Given the description of an element on the screen output the (x, y) to click on. 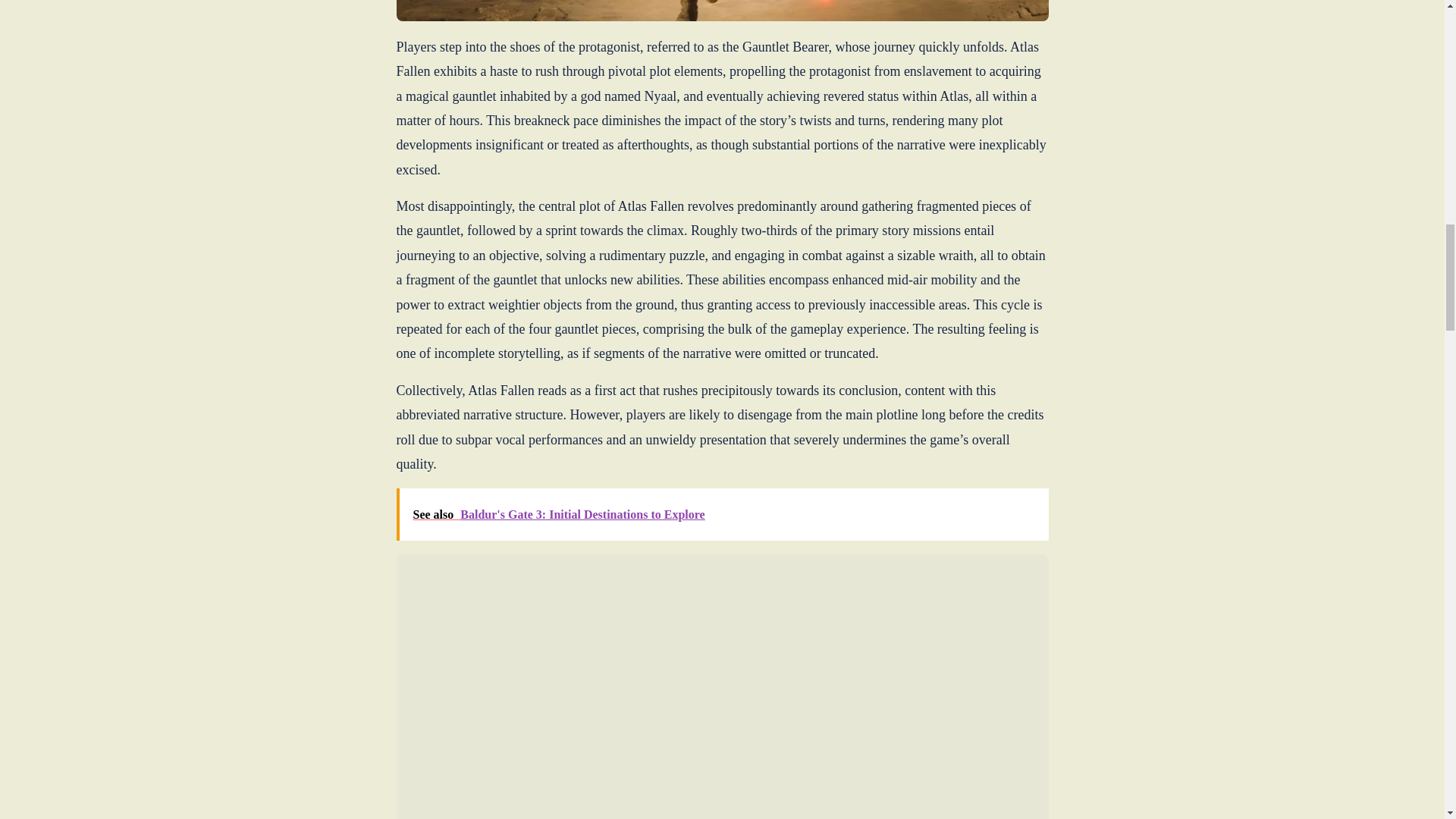
See also  Baldur's Gate 3: Initial Destinations to Explore (722, 513)
